Given the description of an element on the screen output the (x, y) to click on. 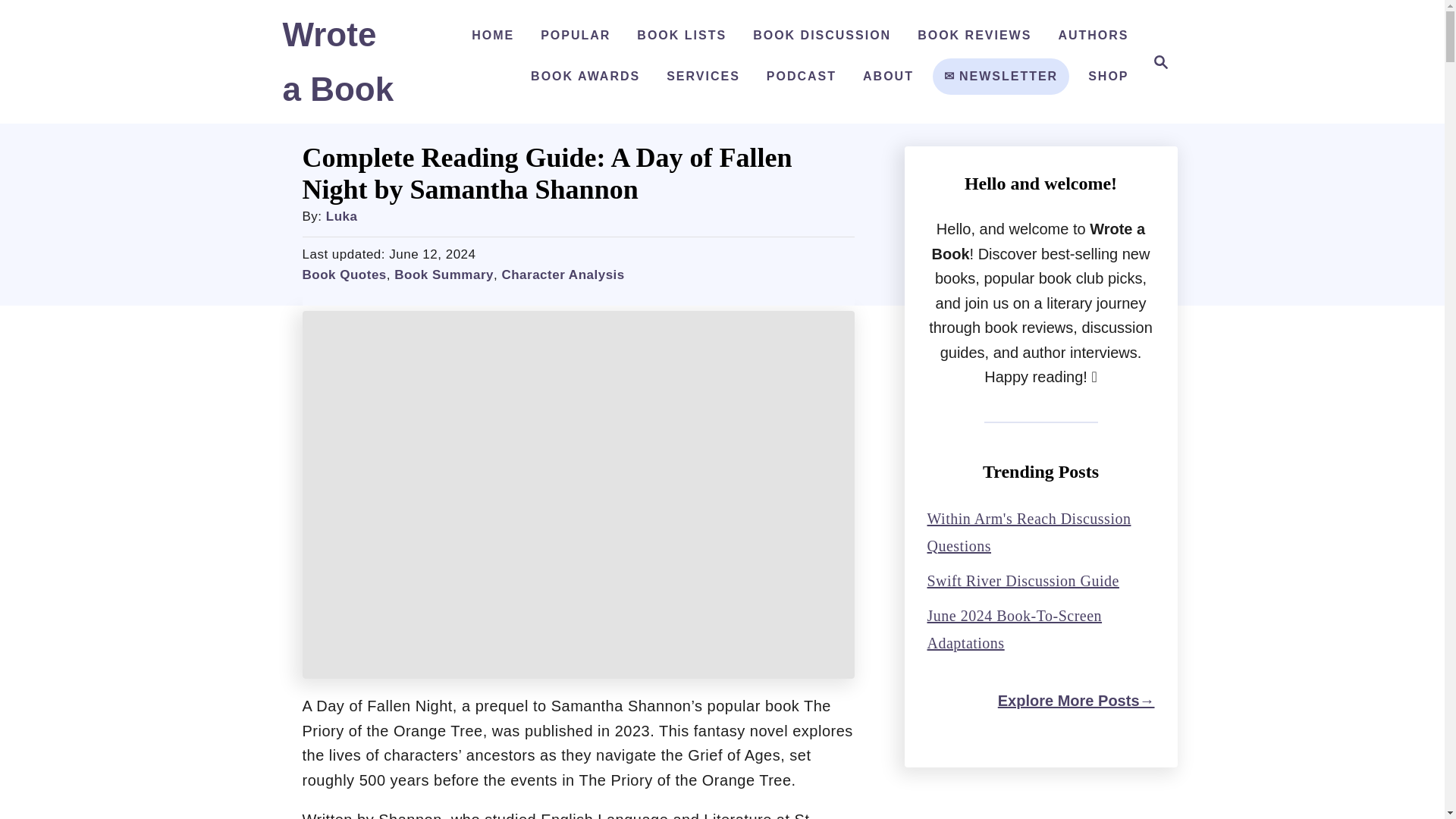
Wrote a Book (337, 68)
Magnifying Glass (1160, 62)
BOOK REVIEWS (974, 35)
Luka (342, 216)
Character Analysis (562, 274)
SHOP (1155, 61)
BOOK DISCUSSION (1107, 76)
AUTHORS (821, 35)
BOOK LISTS (1092, 35)
NEWSLETTER (680, 35)
POPULAR (1000, 76)
Wrote a Book (574, 35)
ABOUT (337, 68)
